Given the description of an element on the screen output the (x, y) to click on. 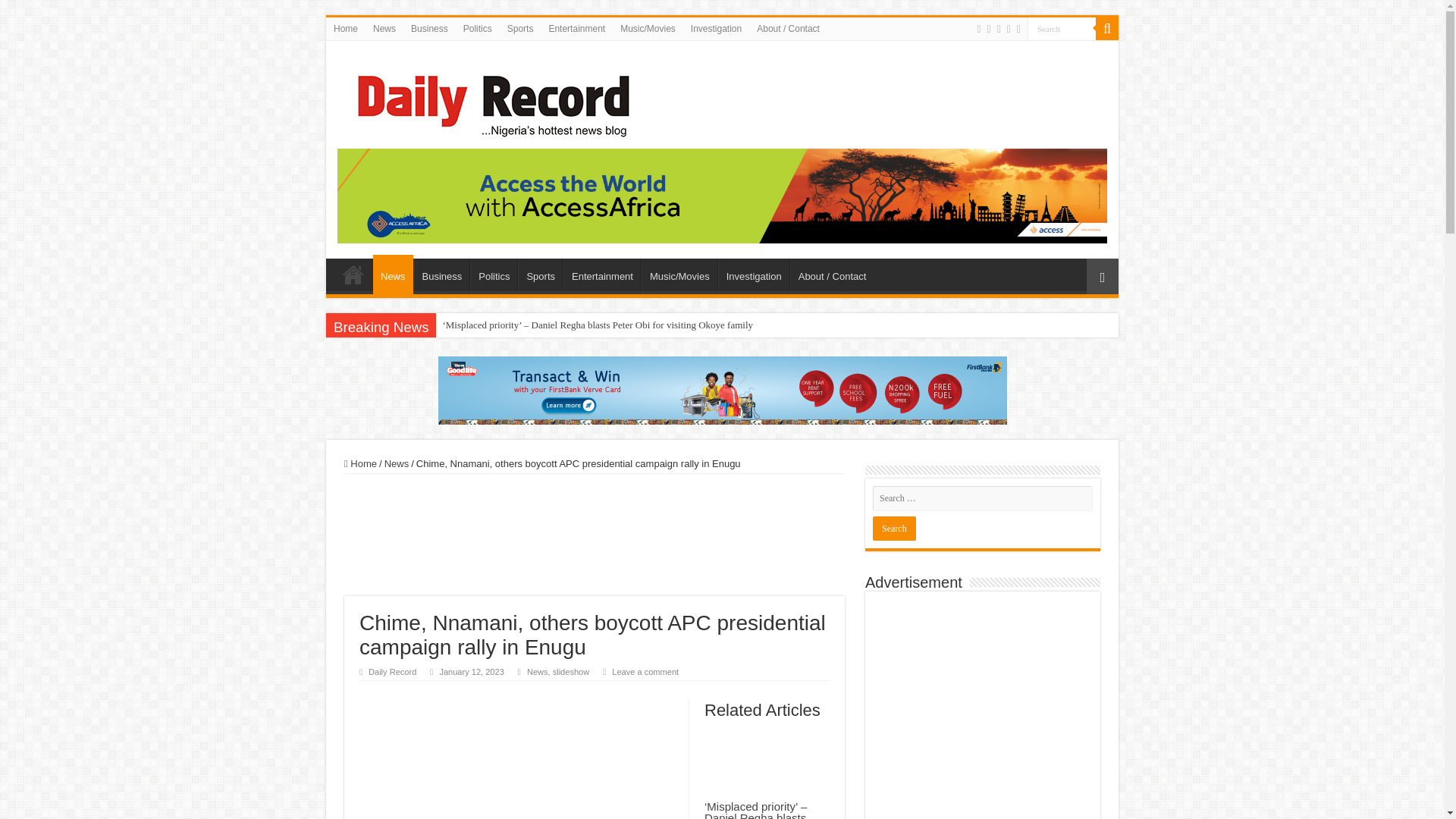
Search (893, 528)
News (392, 274)
Search (1061, 28)
DailyrecordNg (488, 99)
Home (345, 28)
Business (429, 28)
Sports (540, 274)
Search (1061, 28)
Home (352, 274)
Entertainment (601, 274)
